Given the description of an element on the screen output the (x, y) to click on. 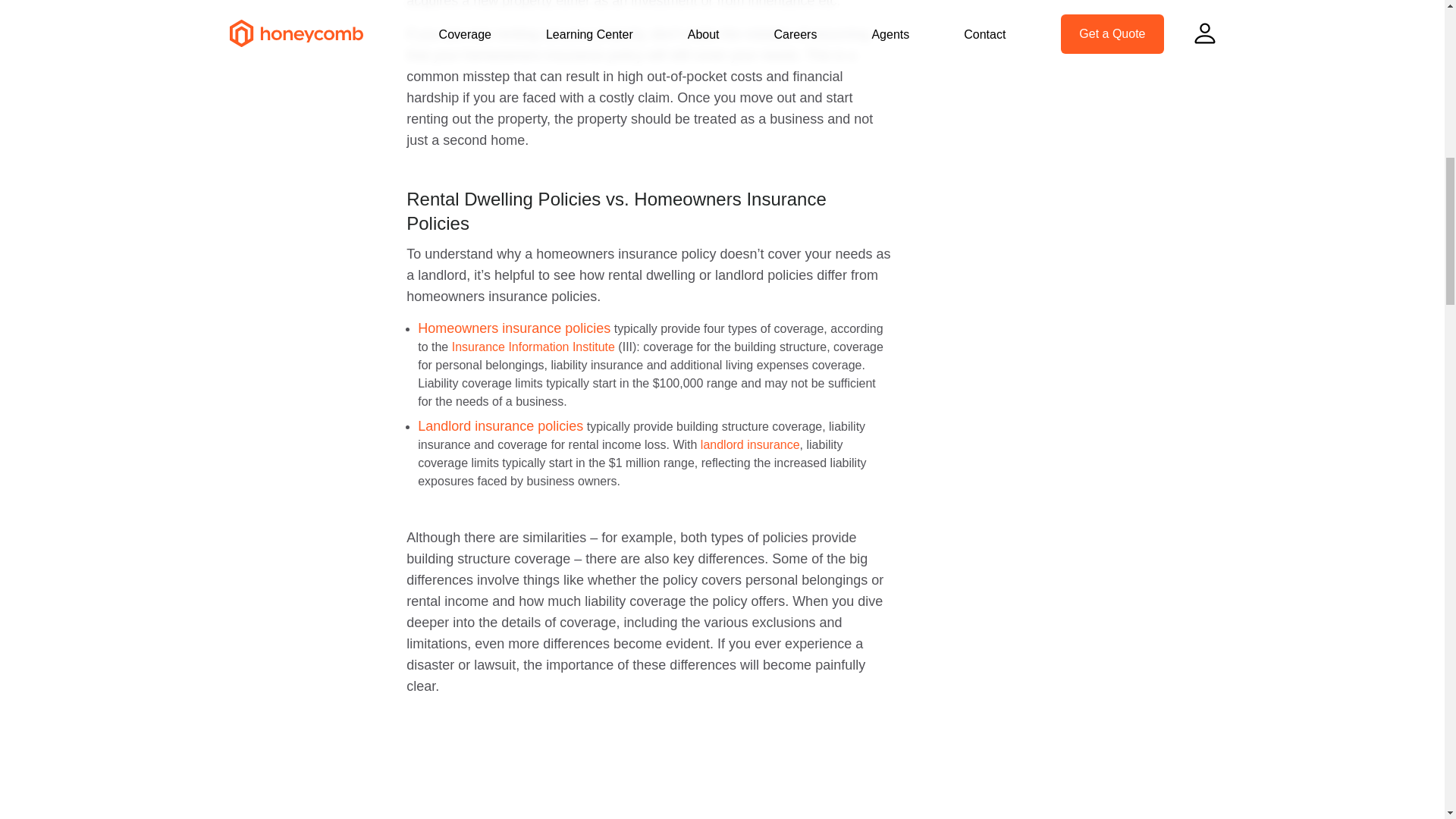
Insurance Information Institute (532, 346)
YouTube video player (648, 764)
landlord insurance (749, 444)
